Given the description of an element on the screen output the (x, y) to click on. 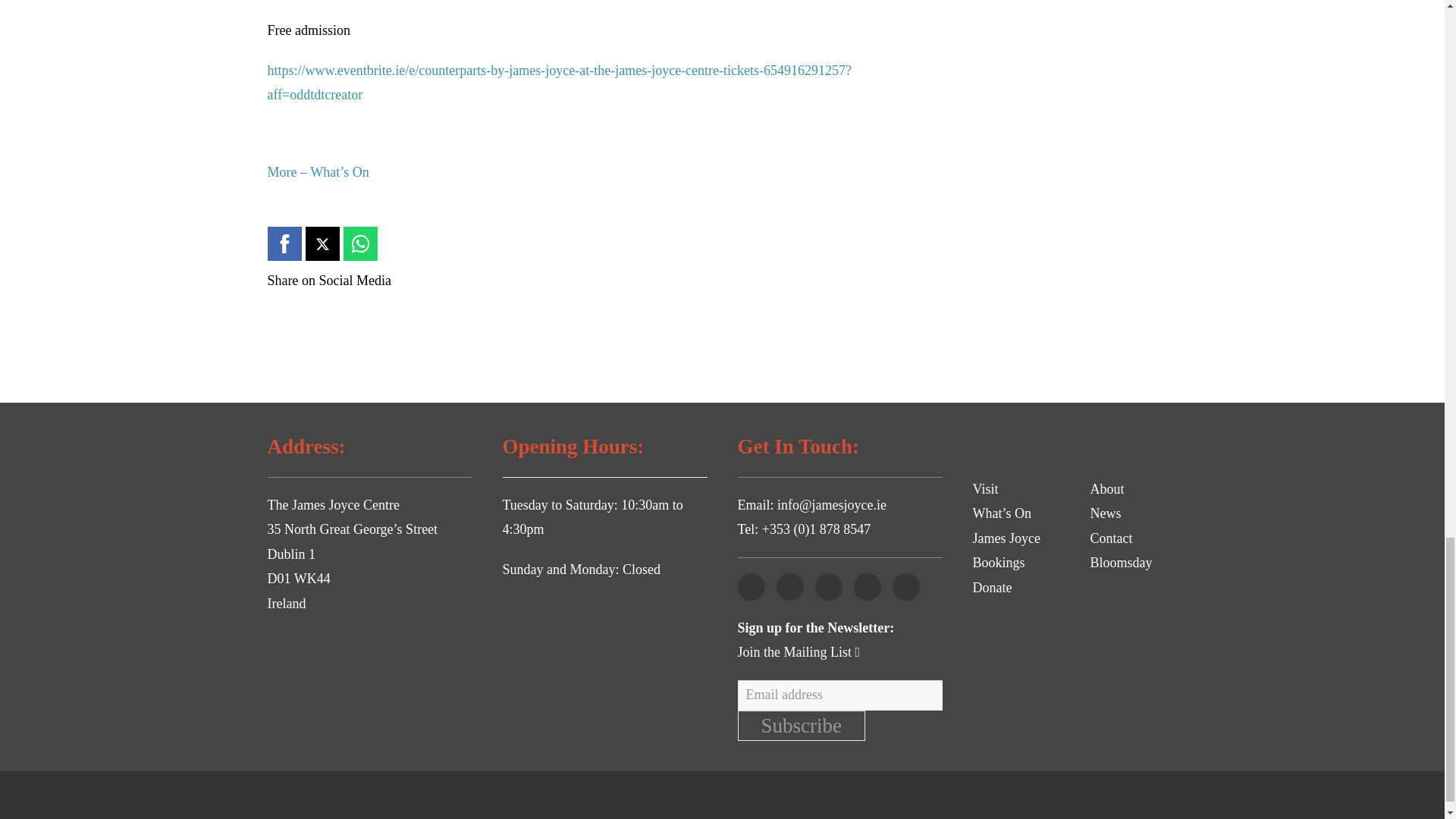
About (1107, 488)
News (1105, 513)
Bloomsday (1121, 562)
James Joyce (1005, 538)
Bookings (998, 562)
Donate (991, 587)
Contact (1111, 538)
Visit (984, 488)
Subscribe (800, 725)
